Given the description of an element on the screen output the (x, y) to click on. 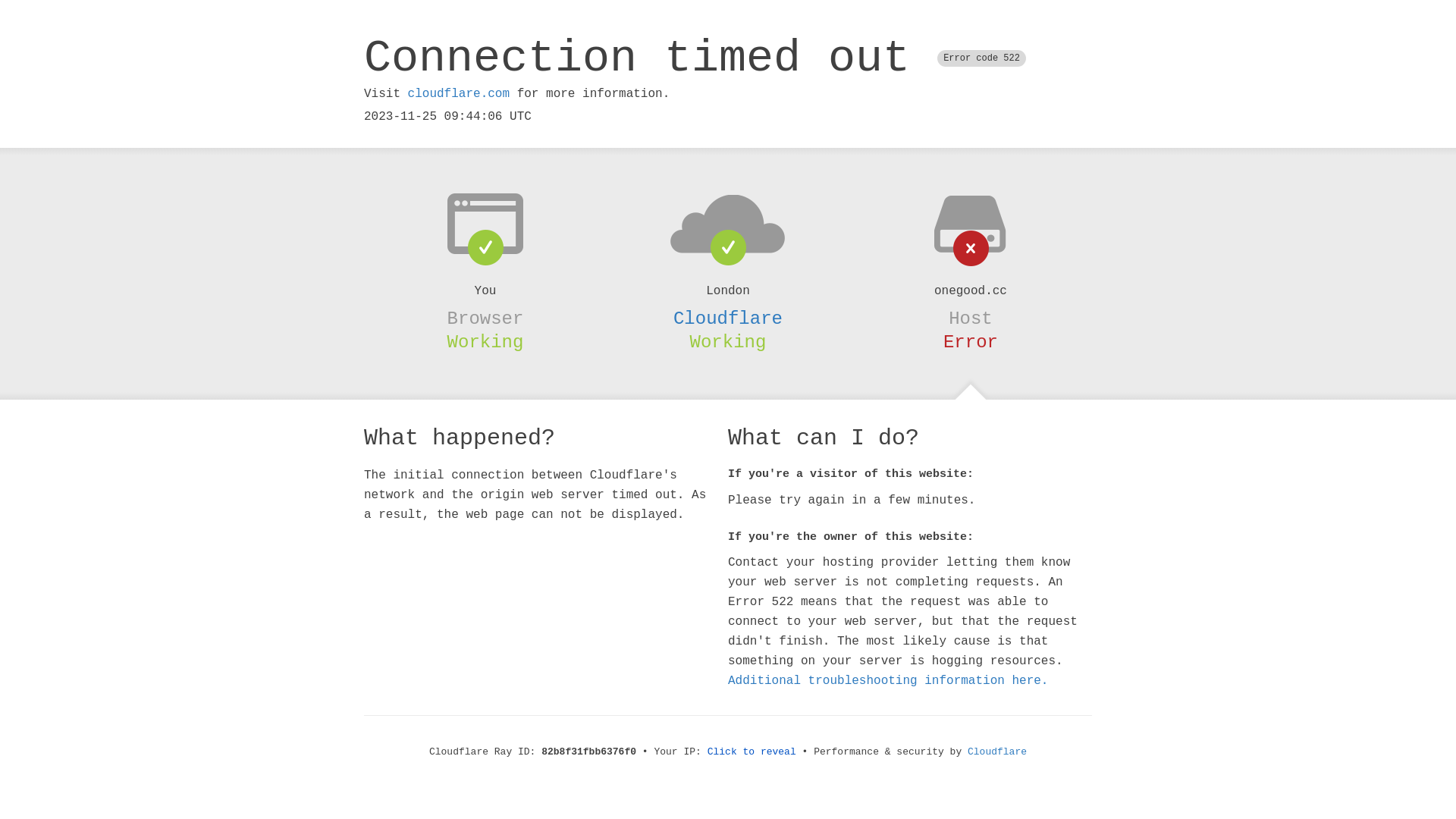
Additional troubleshooting information here. Element type: text (888, 680)
Cloudflare Element type: text (996, 751)
Click to reveal Element type: text (751, 751)
Cloudflare Element type: text (727, 318)
cloudflare.com Element type: text (458, 93)
